Given the description of an element on the screen output the (x, y) to click on. 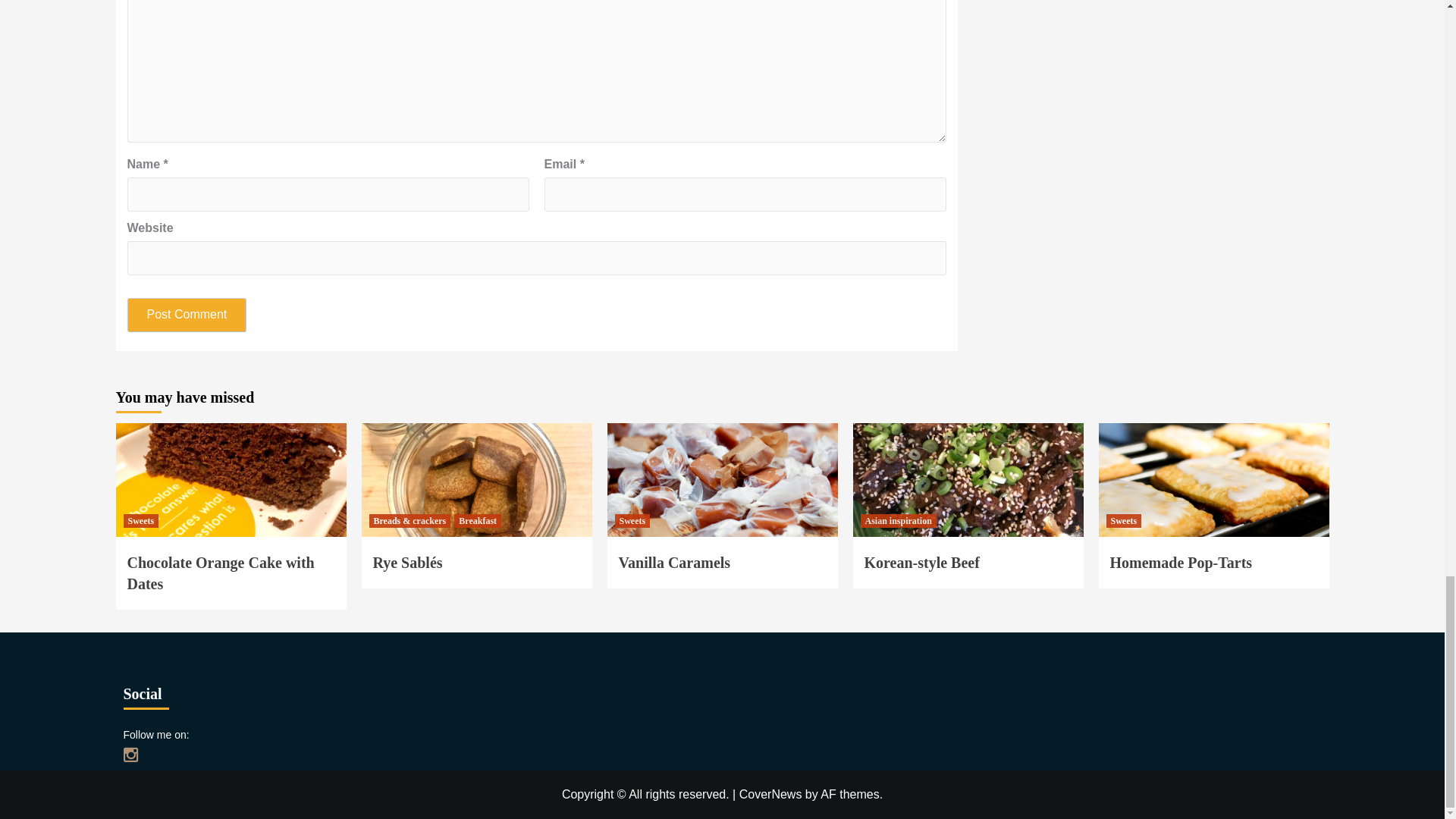
Post Comment (187, 315)
Post Comment (187, 315)
